Given the description of an element on the screen output the (x, y) to click on. 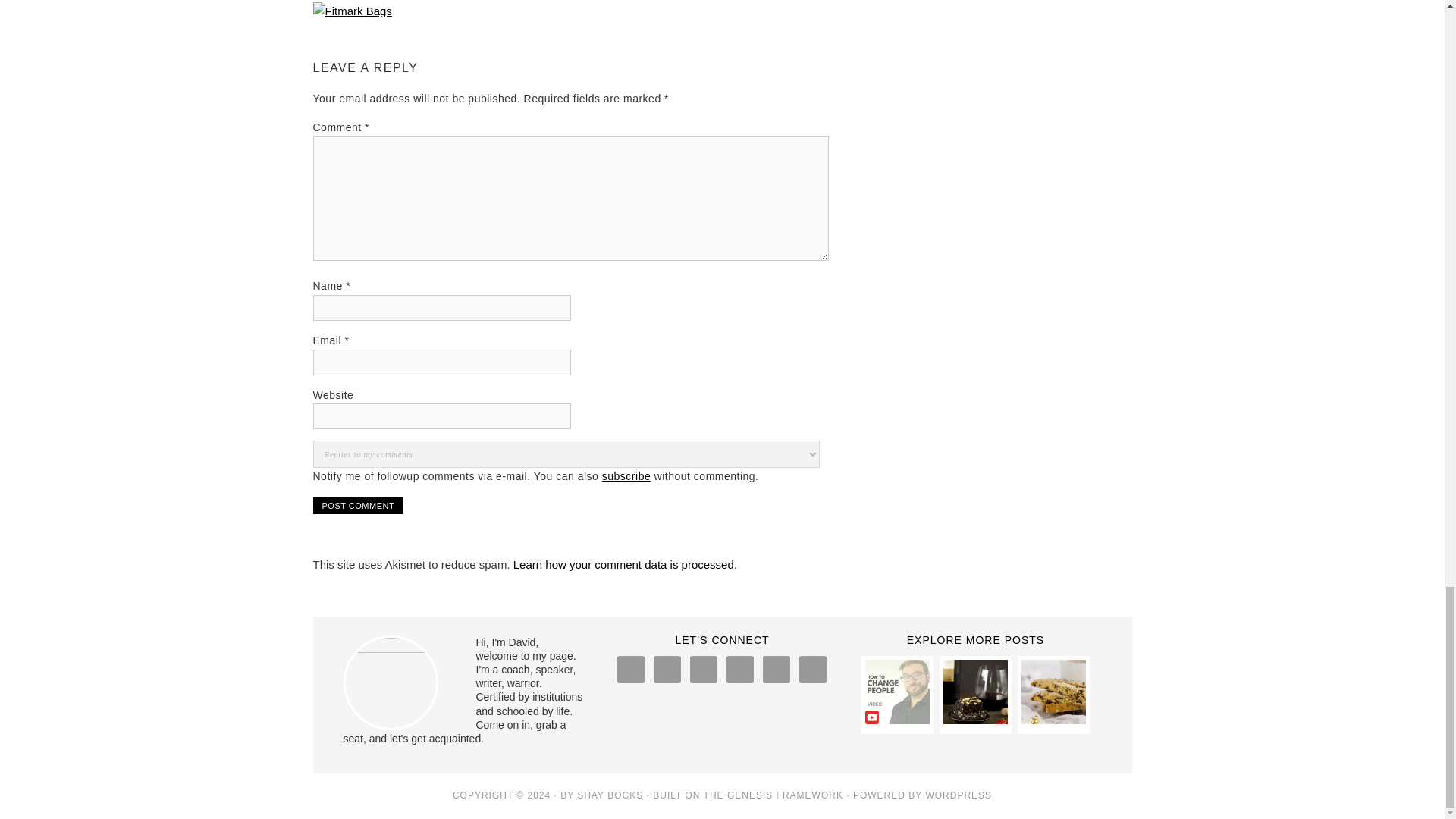
Post Comment (358, 505)
